Given the description of an element on the screen output the (x, y) to click on. 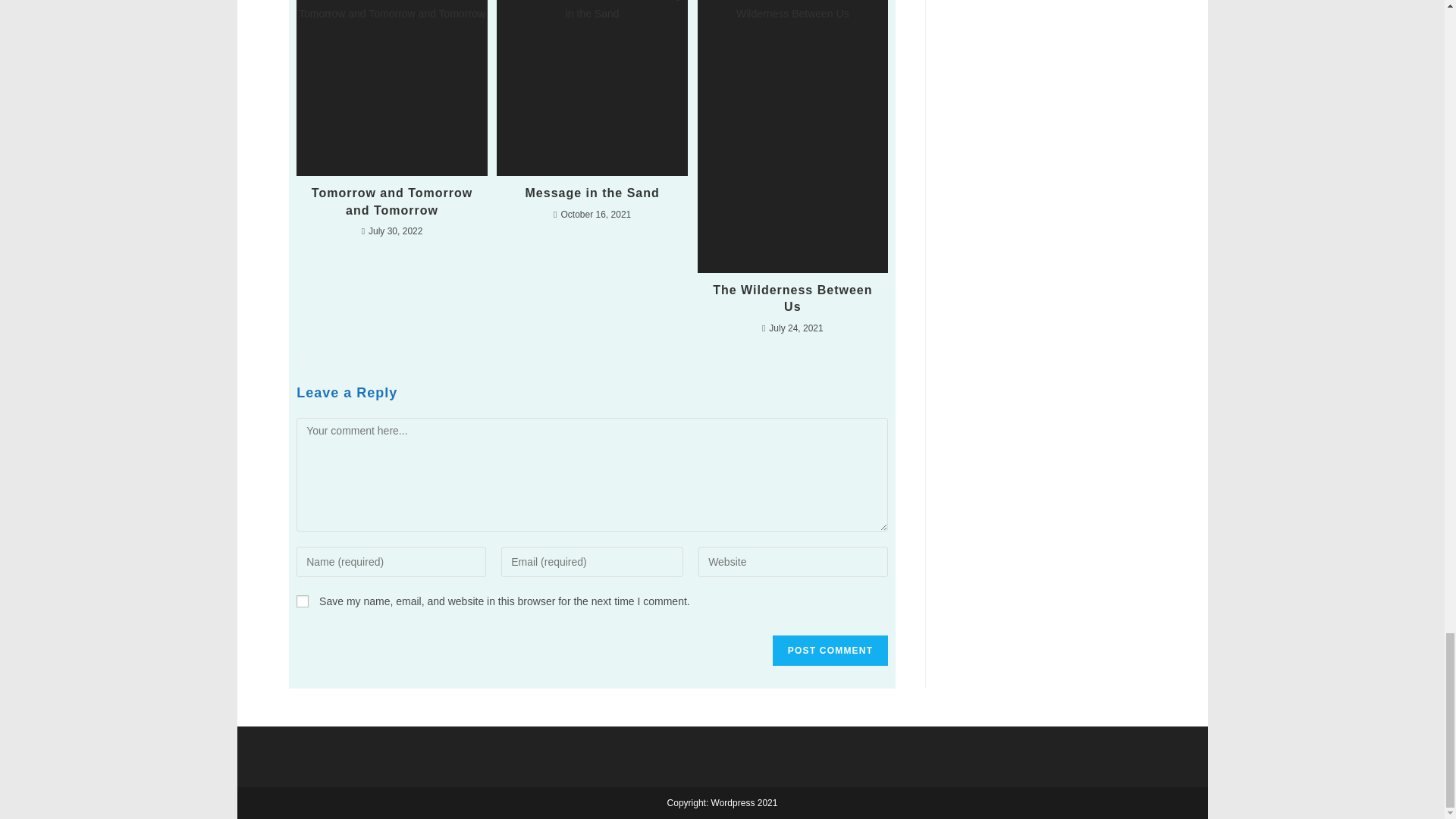
yes (302, 601)
Message in the Sand (591, 193)
Post Comment (830, 650)
Tomorrow and Tomorrow and Tomorrow (392, 202)
